Given the description of an element on the screen output the (x, y) to click on. 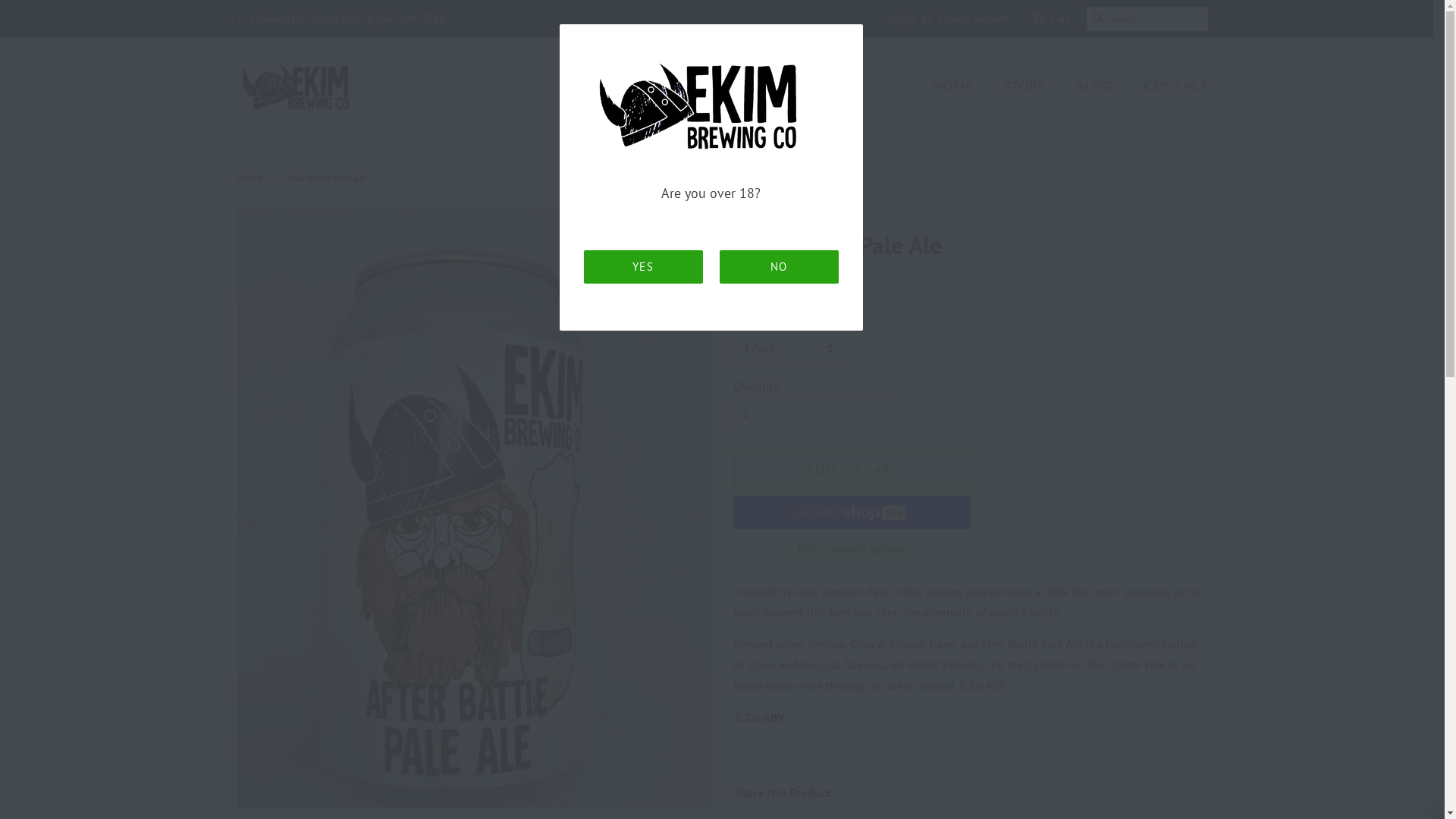
More payment options Element type: text (852, 547)
Home Element type: text (250, 178)
SEARCH Element type: text (1097, 18)
HOME Element type: text (960, 86)
Log in Element type: text (899, 18)
BLOG Element type: text (1095, 86)
ADD TO CART Element type: text (852, 470)
Cart Element type: text (1059, 18)
CONTACT Element type: text (1169, 86)
STORE Element type: text (1026, 86)
11/1 Marina Cl, Mount Kuring-Gai NSW 2080 Element type: text (340, 18)
Yes Element type: text (642, 266)
No Element type: text (777, 266)
Create account Element type: text (972, 18)
